Given the description of an element on the screen output the (x, y) to click on. 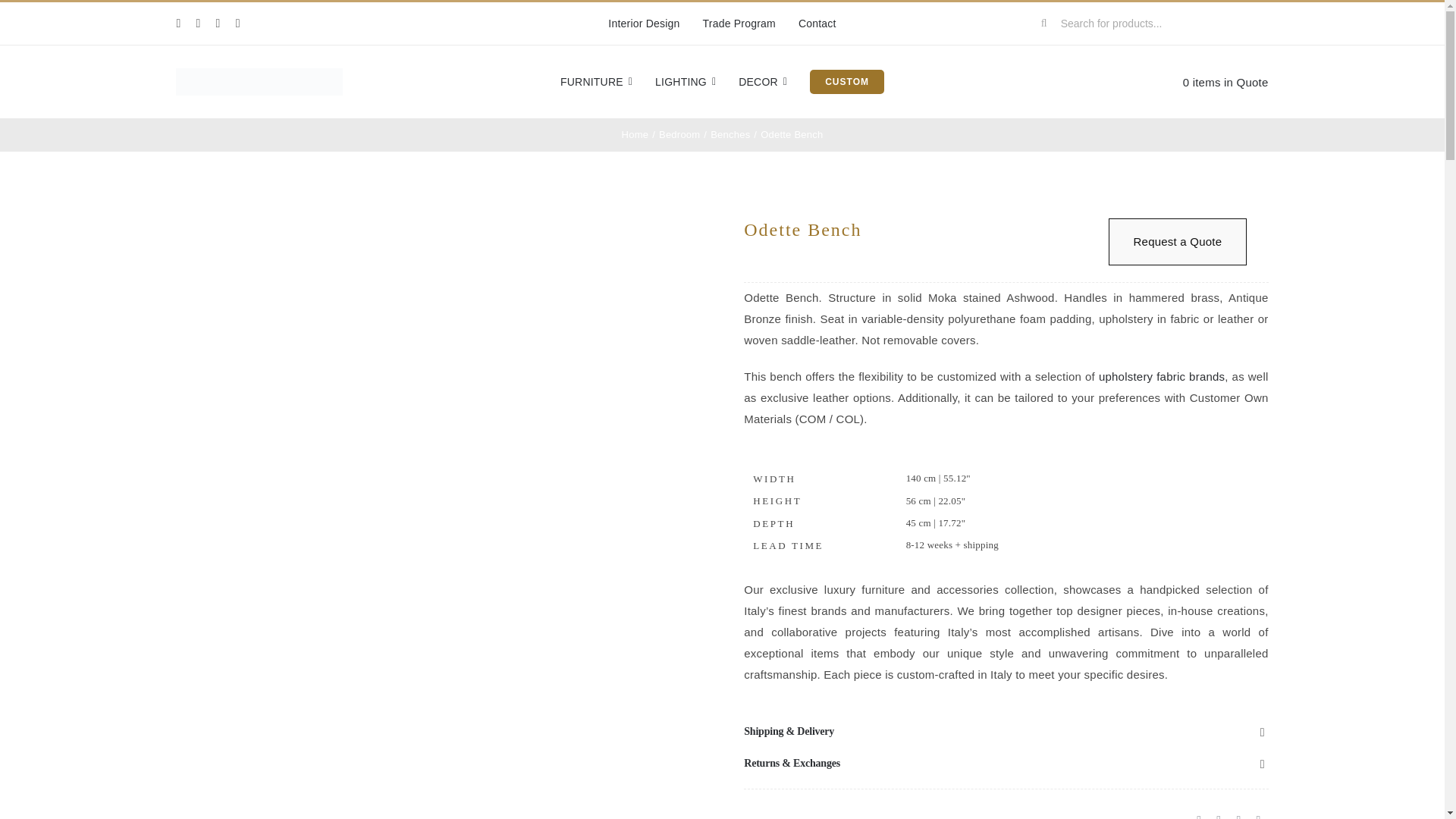
Contact (816, 23)
FURNITURE (595, 81)
Trade Program (739, 23)
Interior Design (643, 23)
